Given the description of an element on the screen output the (x, y) to click on. 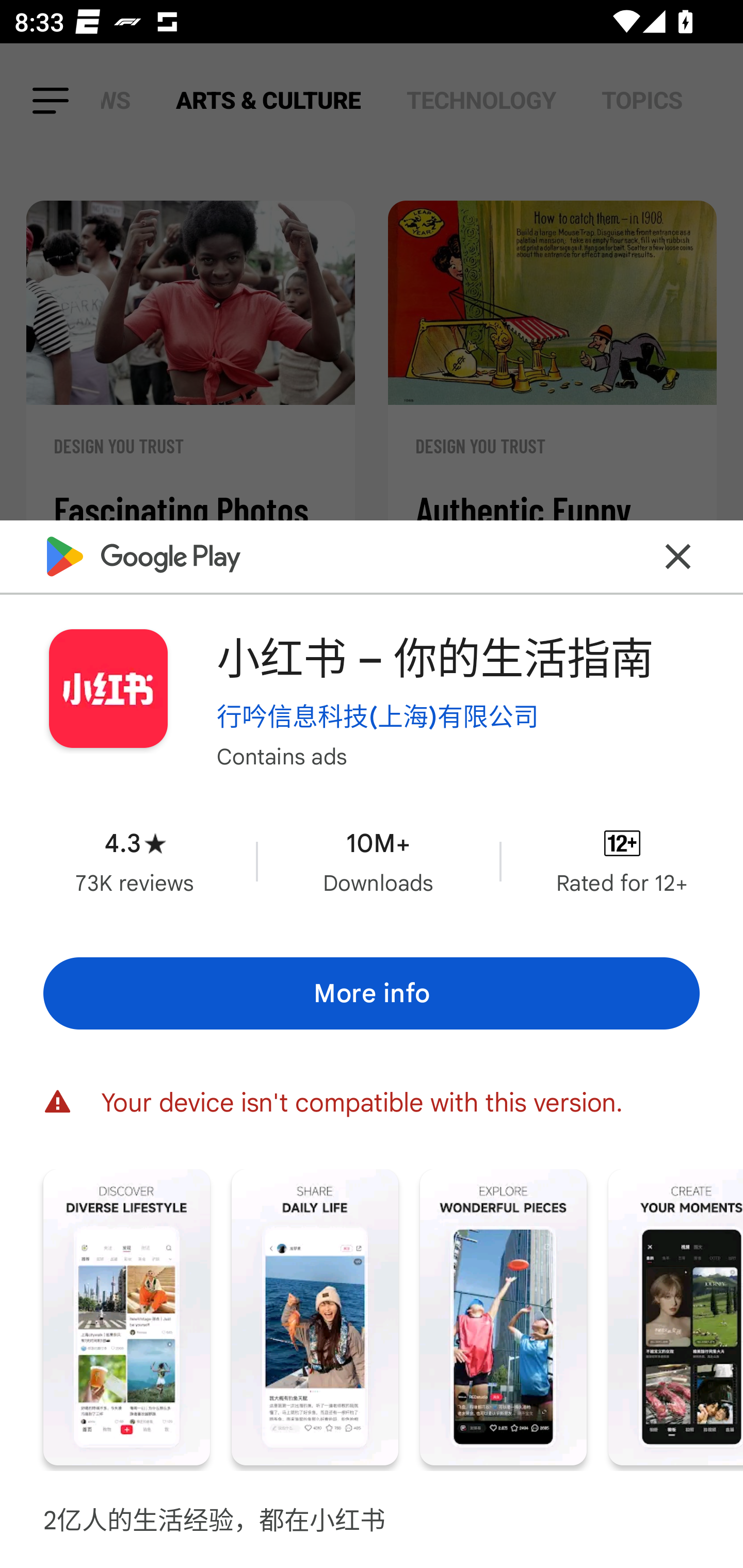
Close (677, 556)
Image of app or game icon for 小红书 – 你的生活指南 (108, 689)
行吟信息科技(上海)有限公司 (377, 716)
More info (371, 994)
Screenshot "1" of "5" (126, 1317)
Screenshot "2" of "5" (314, 1317)
Screenshot "3" of "5" (502, 1317)
Screenshot "4" of "5" (675, 1317)
